Given the description of an element on the screen output the (x, y) to click on. 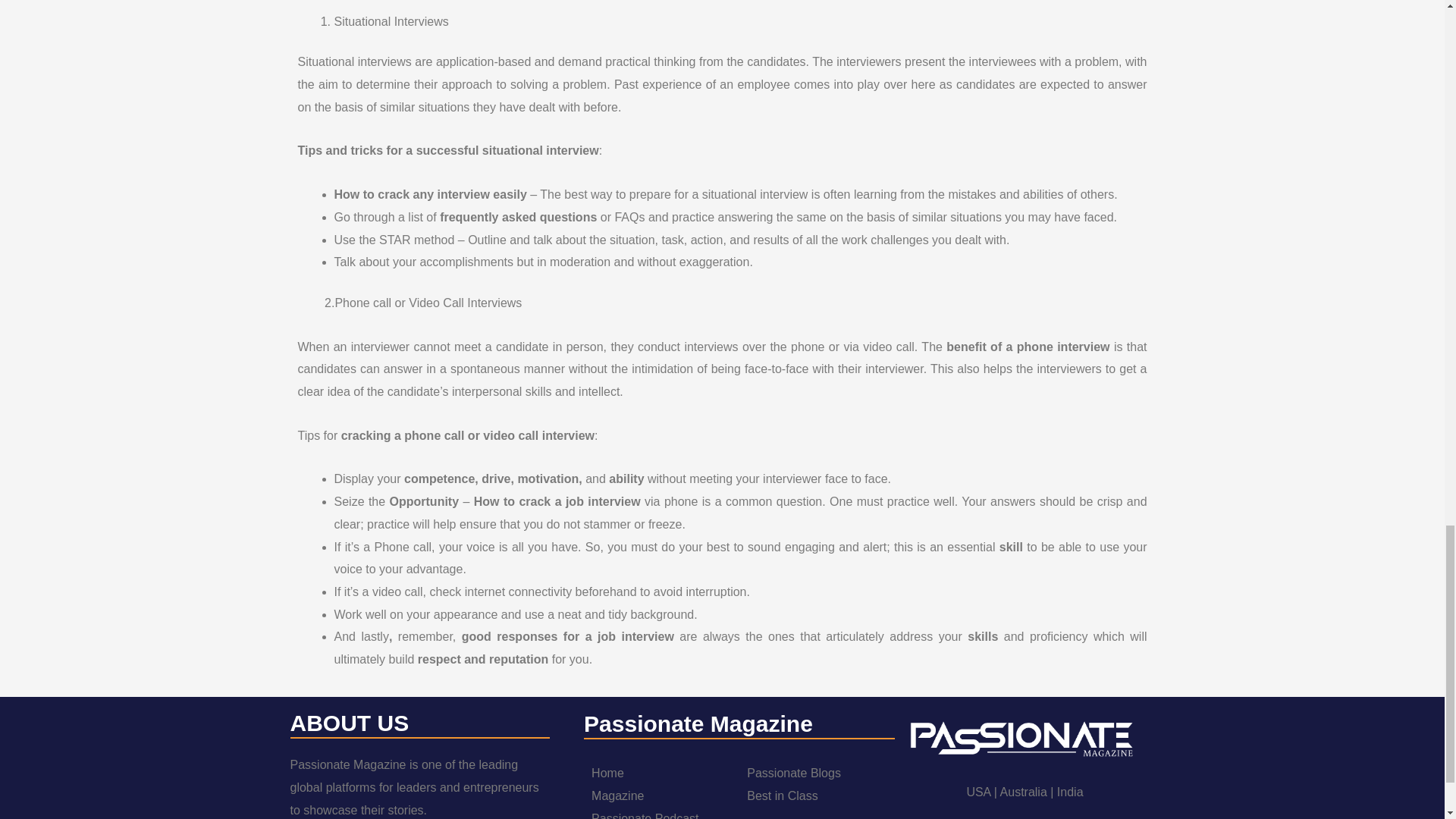
Passionate Blogs (793, 772)
Best in Class (781, 795)
Home (607, 772)
Magazine (617, 795)
Passionate Podcast (644, 815)
